Given the description of an element on the screen output the (x, y) to click on. 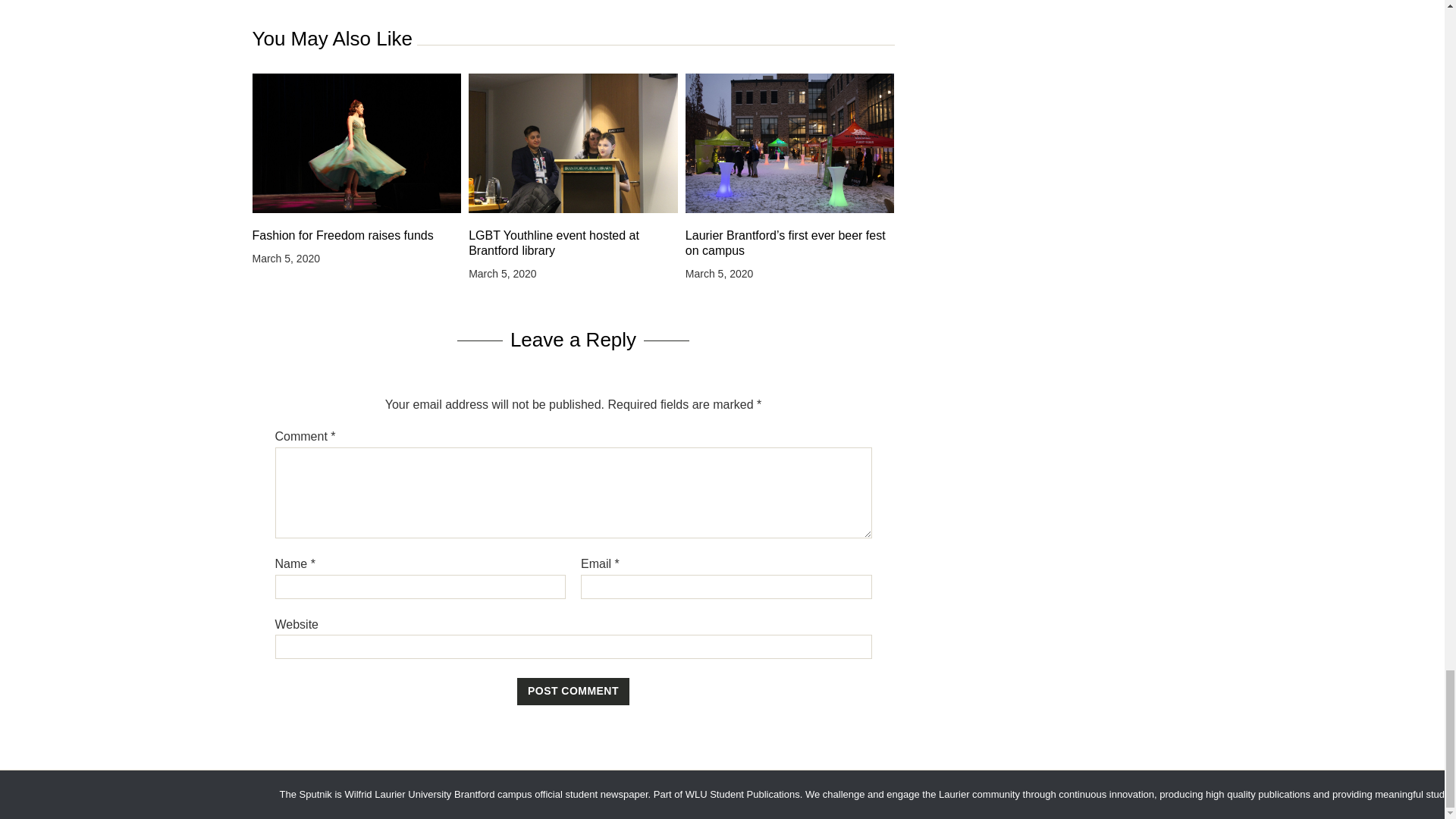
Post Comment (572, 691)
Fashion for Freedom raises funds (356, 235)
LGBT Youthline event hosted at Brantford library (573, 243)
Post Comment (572, 691)
